Given the description of an element on the screen output the (x, y) to click on. 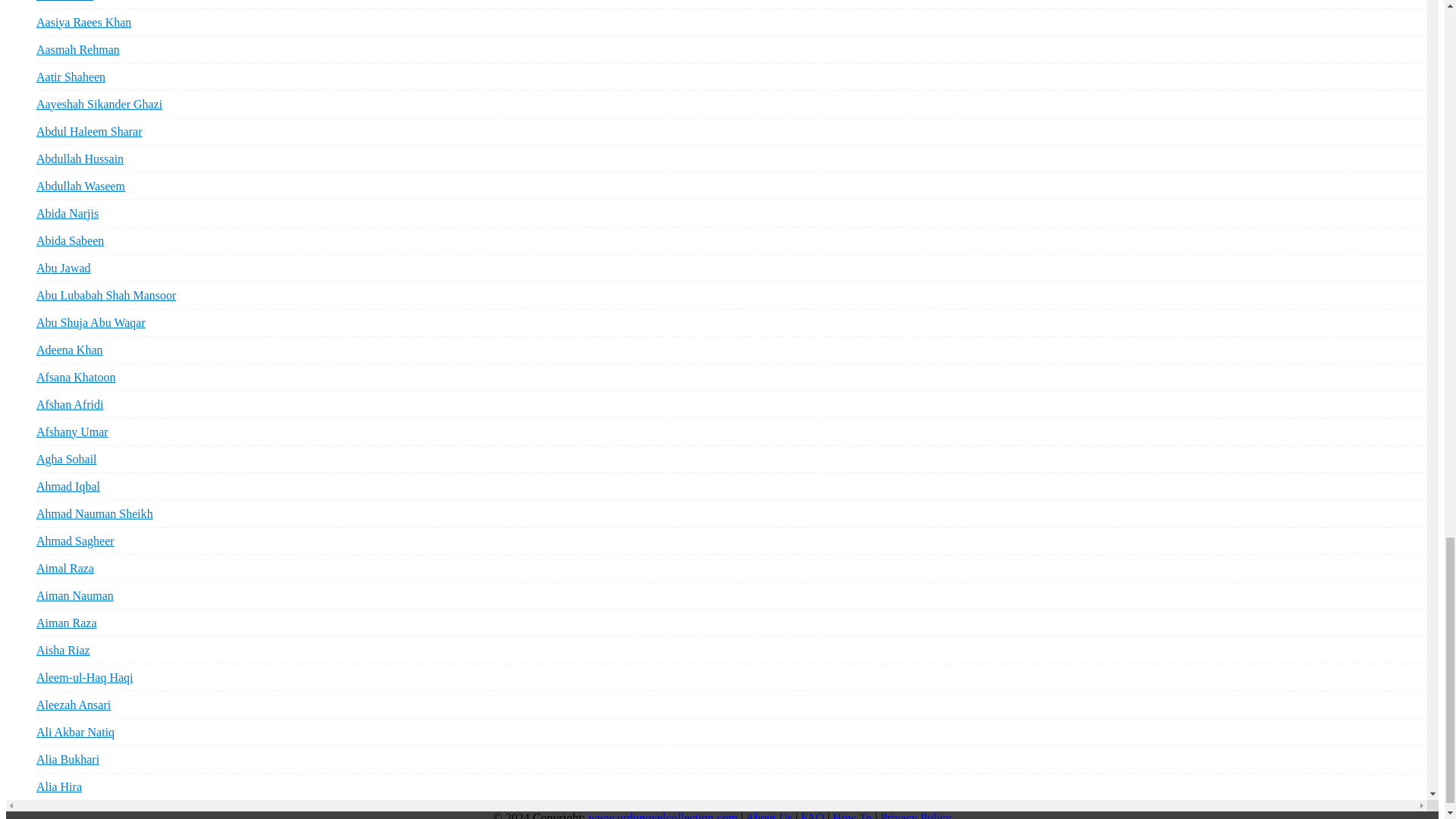
Aasiya Raees Khan (83, 22)
Aan Fatima (64, 4)
Aasmah Rehman (77, 49)
